Given the description of an element on the screen output the (x, y) to click on. 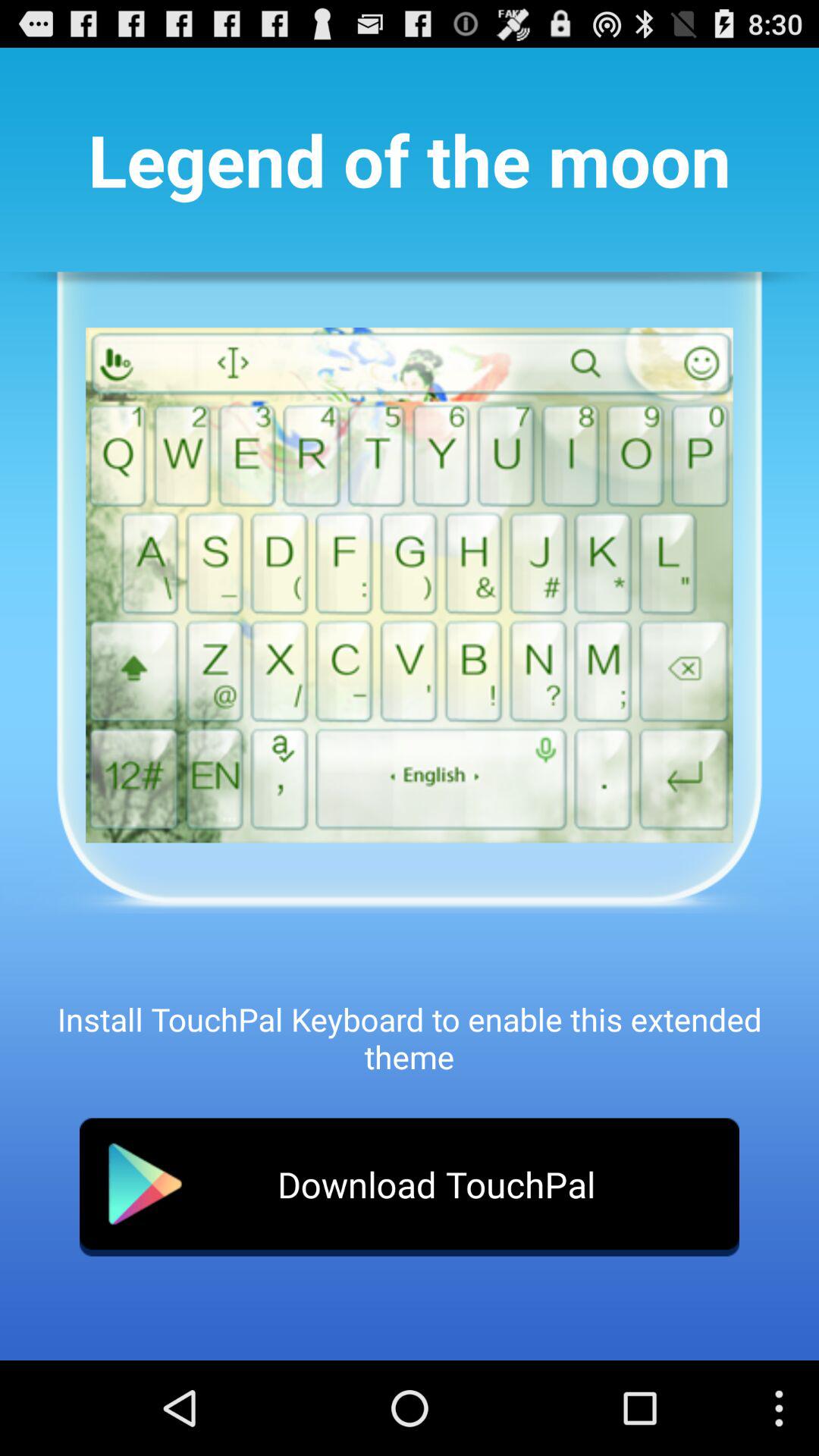
jump until the download touchpal (409, 1187)
